Given the description of an element on the screen output the (x, y) to click on. 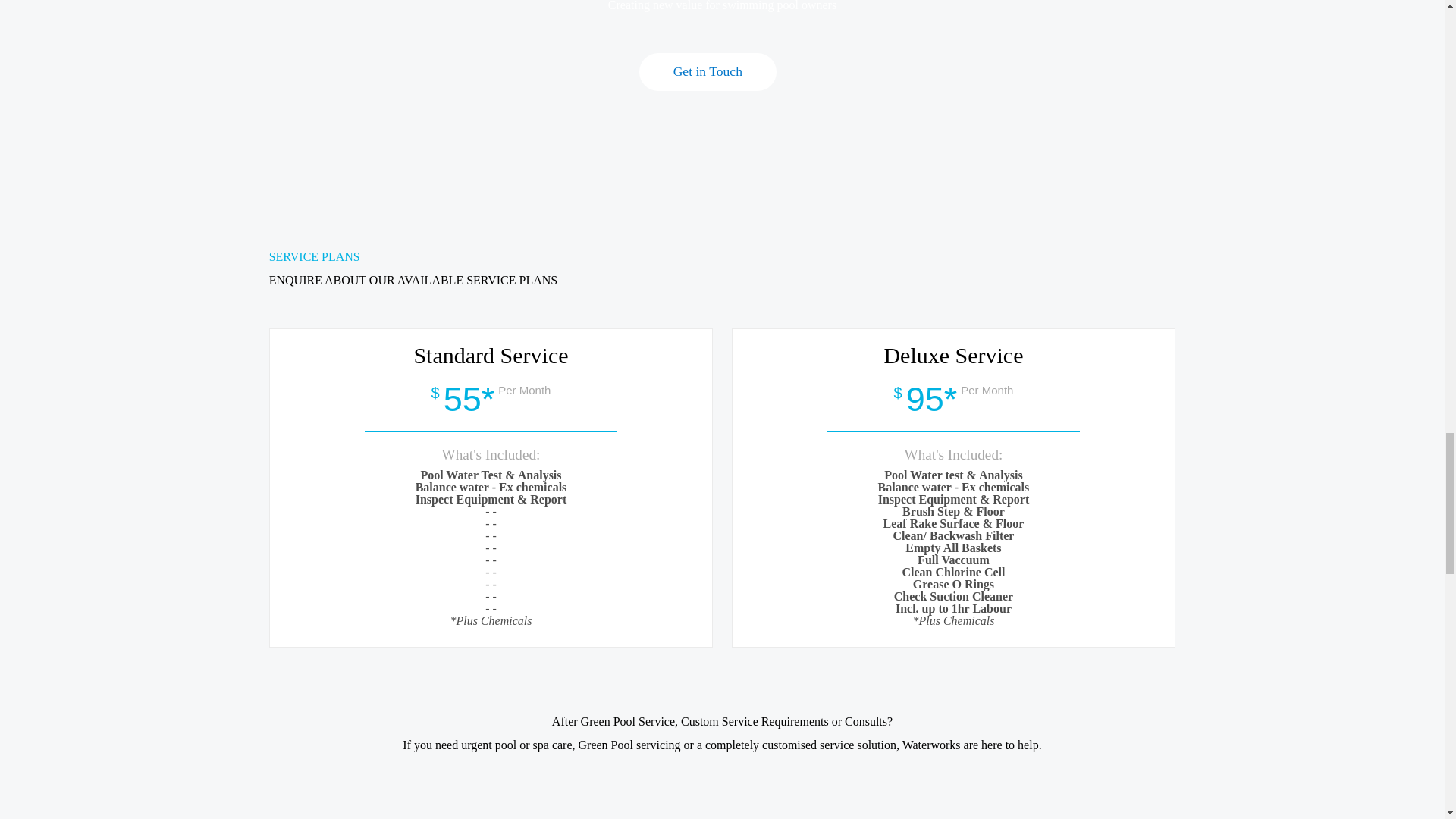
Get in Touch (707, 71)
